Given the description of an element on the screen output the (x, y) to click on. 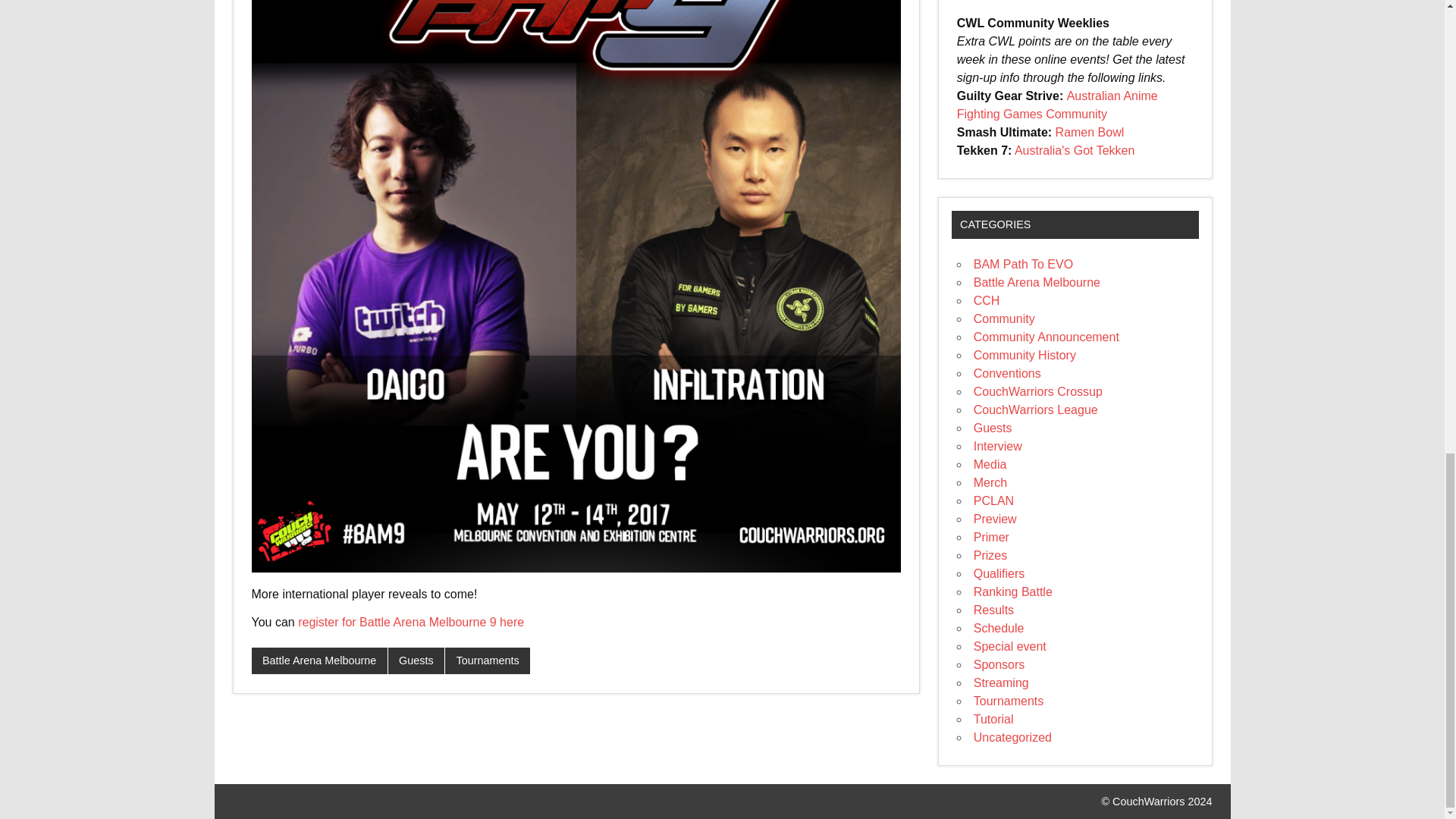
register for Battle Arena Melbourne 9 here (411, 621)
Battle Arena Melbourne (319, 660)
Guests (416, 660)
Tournaments (487, 660)
